Given the description of an element on the screen output the (x, y) to click on. 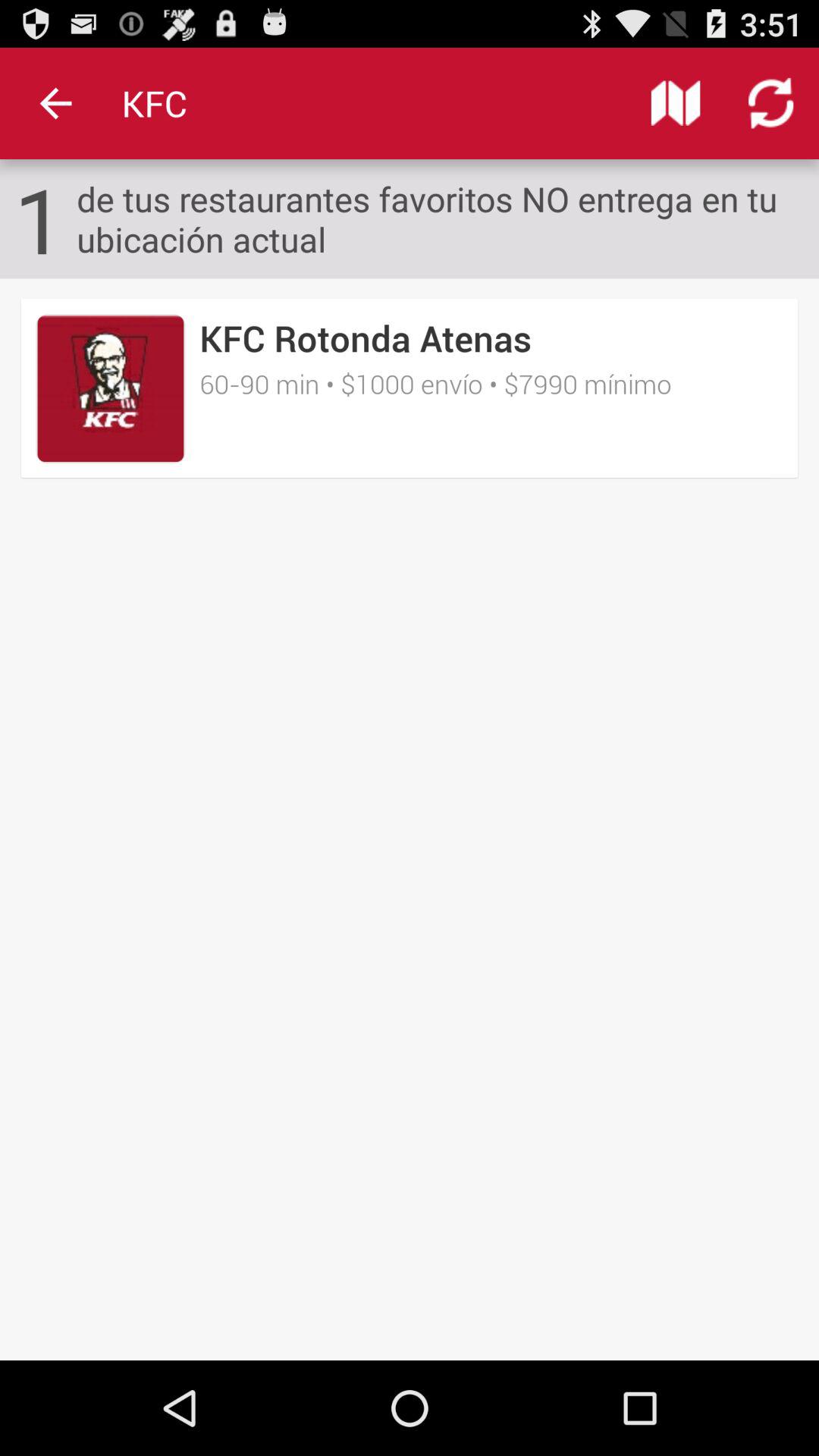
open the item below the 1 icon (110, 388)
